Given the description of an element on the screen output the (x, y) to click on. 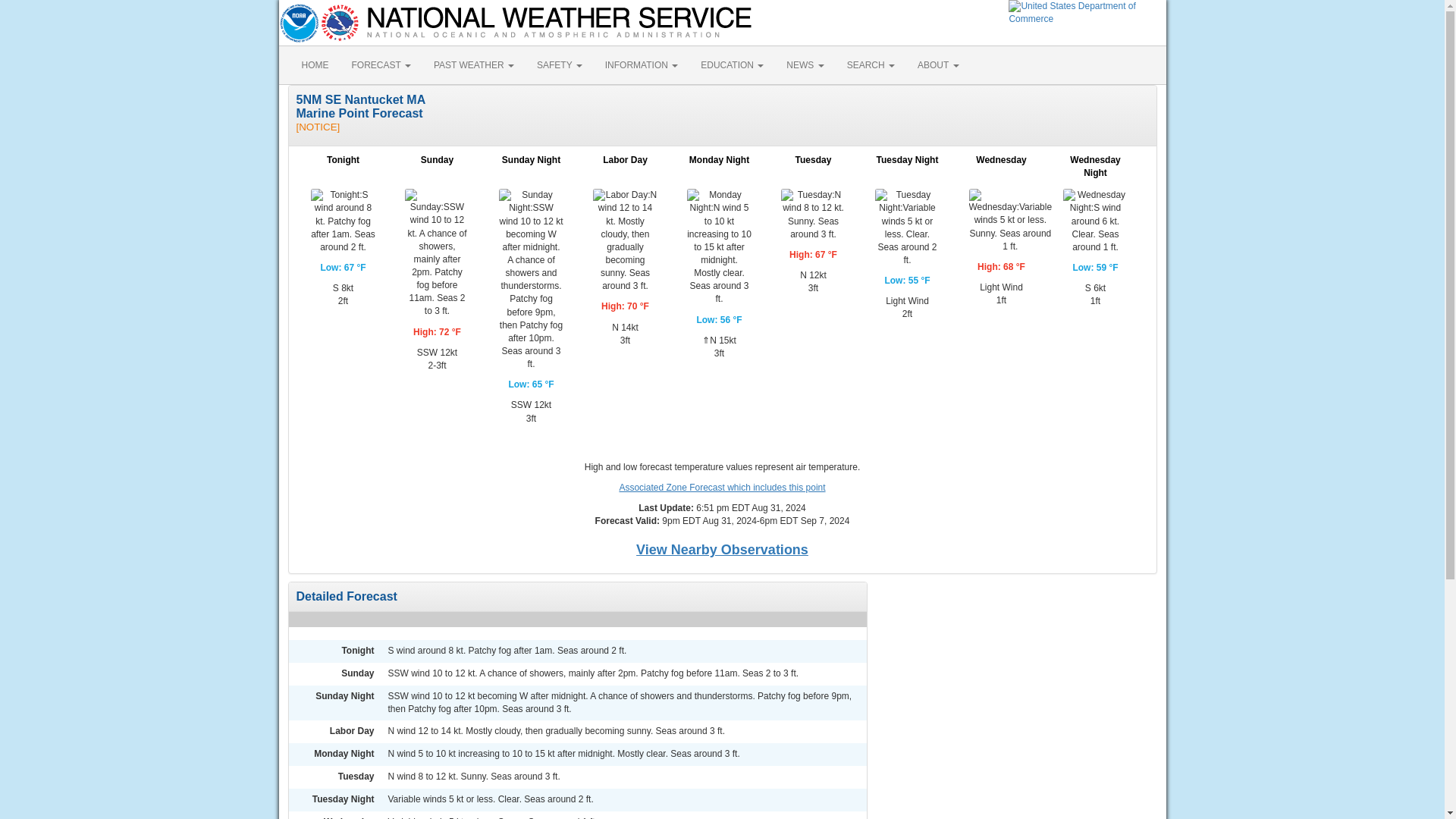
Wednesday Night:S wind around 6 kt. Clear. Seas around 1 ft. (1095, 221)
HOME (314, 64)
SAFETY (559, 64)
PAST WEATHER (473, 64)
Tuesday:N wind 8 to 12 kt. Sunny. Seas around 3 ft. (812, 214)
FORECAST (380, 64)
